Given the description of an element on the screen output the (x, y) to click on. 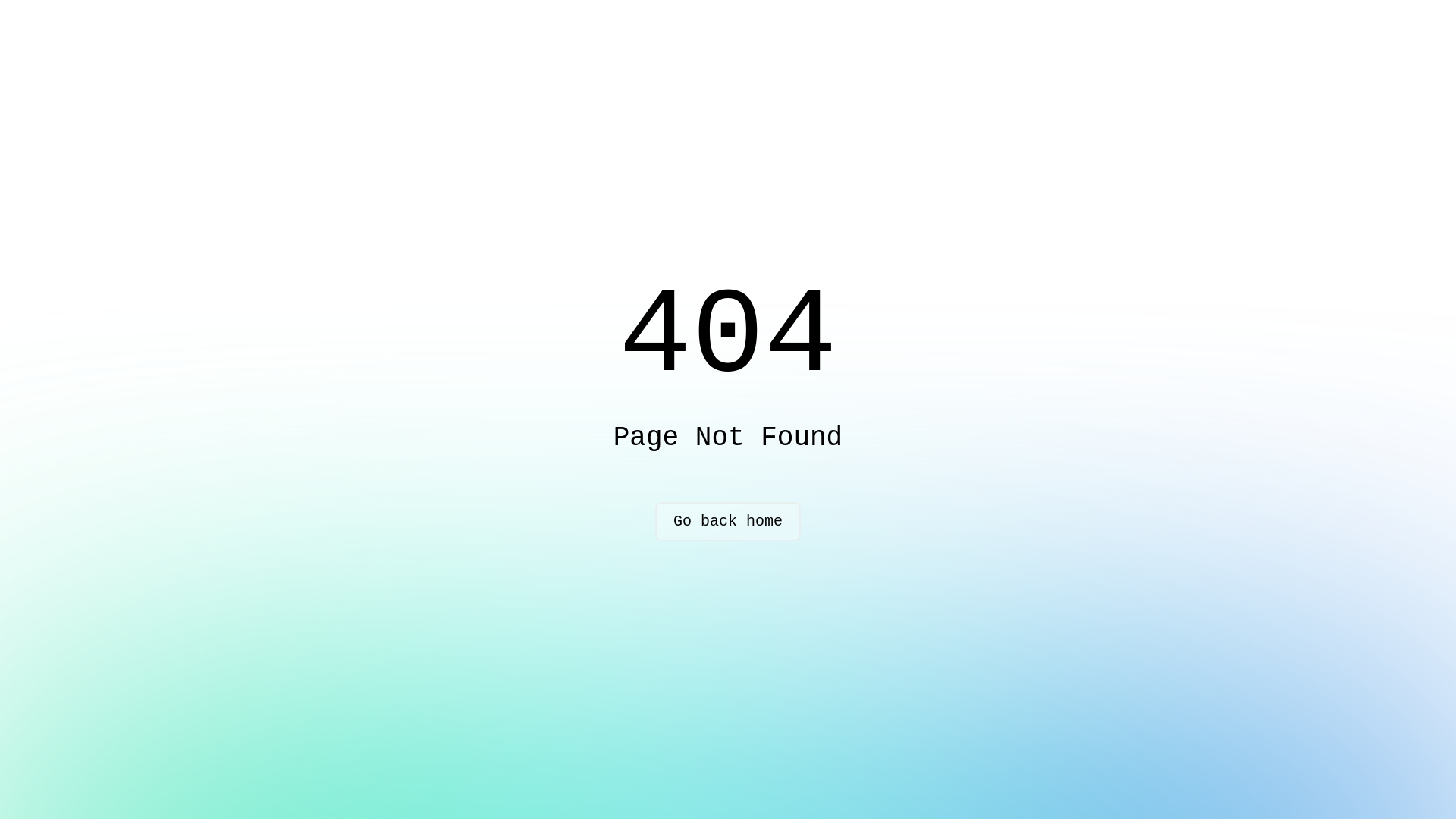
Go back home Element type: text (727, 521)
